Given the description of an element on the screen output the (x, y) to click on. 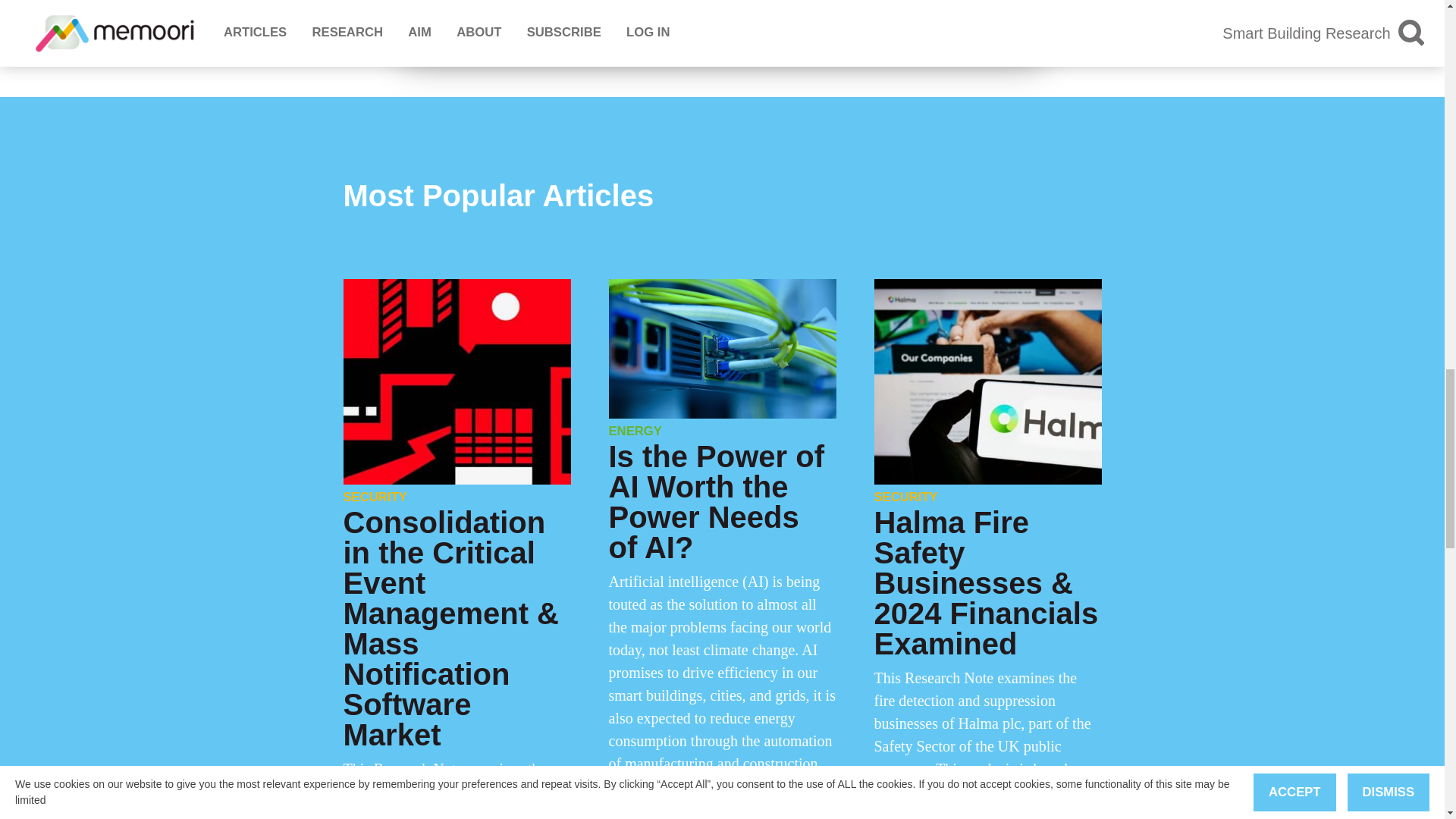
SECURITY (374, 496)
